Given the description of an element on the screen output the (x, y) to click on. 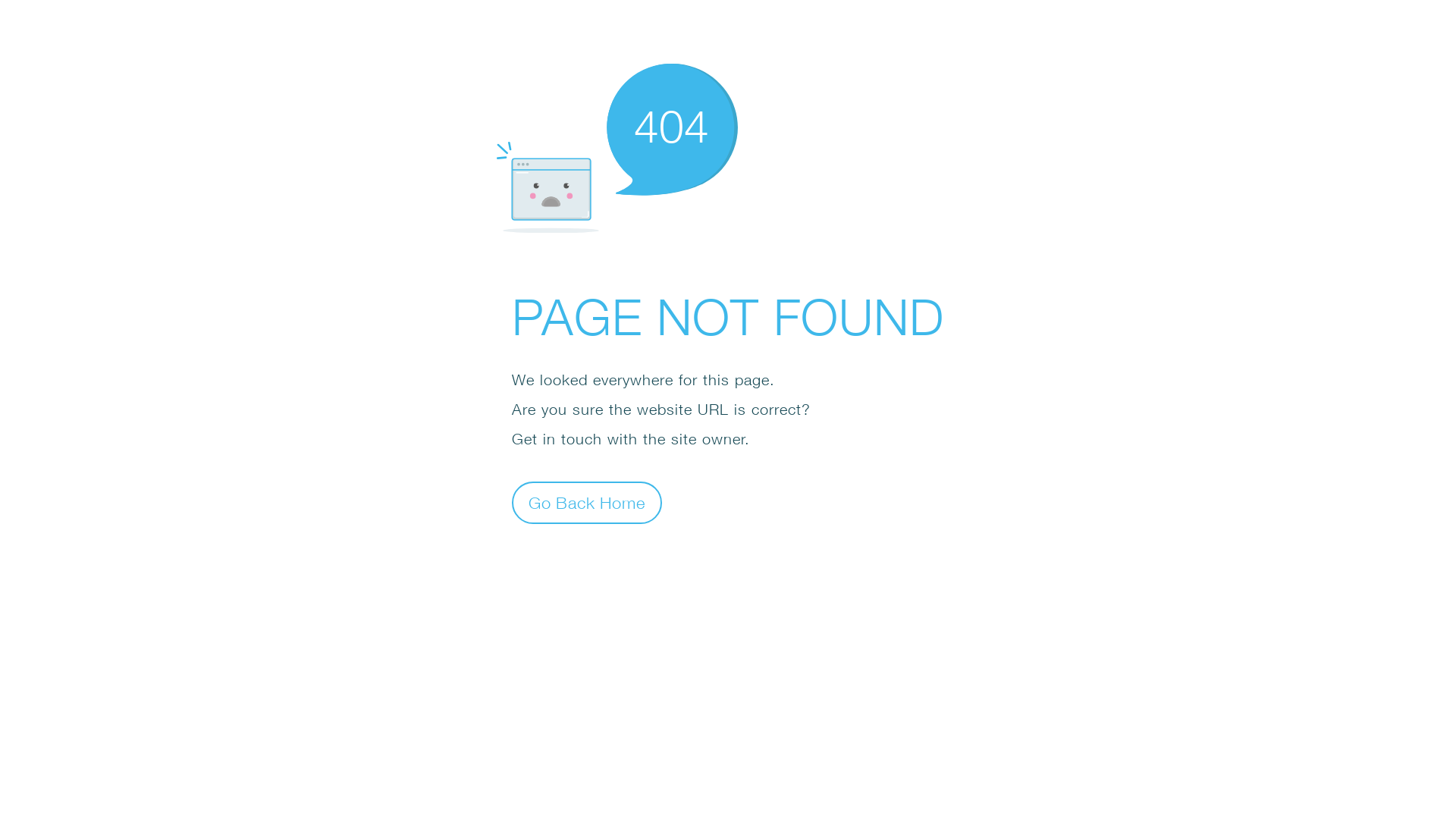
Go Back Home Element type: text (586, 502)
